Given the description of an element on the screen output the (x, y) to click on. 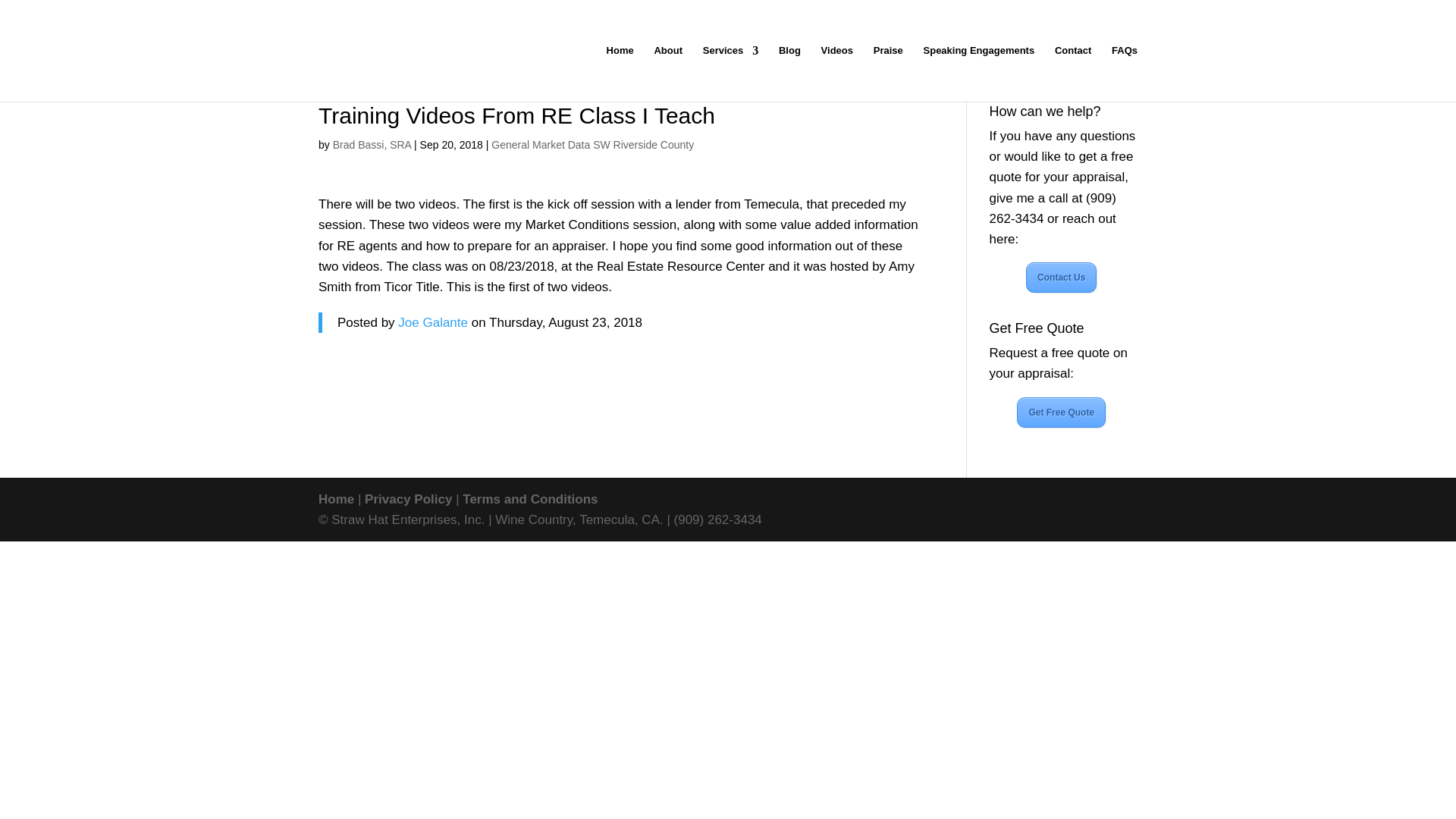
Terms and Conditions (529, 498)
Services (730, 73)
Posts by Brad Bassi, SRA (372, 144)
General Market Data SW Riverside County (593, 144)
Joe Galante (432, 322)
Contact Us (1061, 277)
Home (335, 498)
Brad Bassi, SRA (372, 144)
Privacy Policy (408, 498)
Speaking Engagements (979, 73)
